Given the description of an element on the screen output the (x, y) to click on. 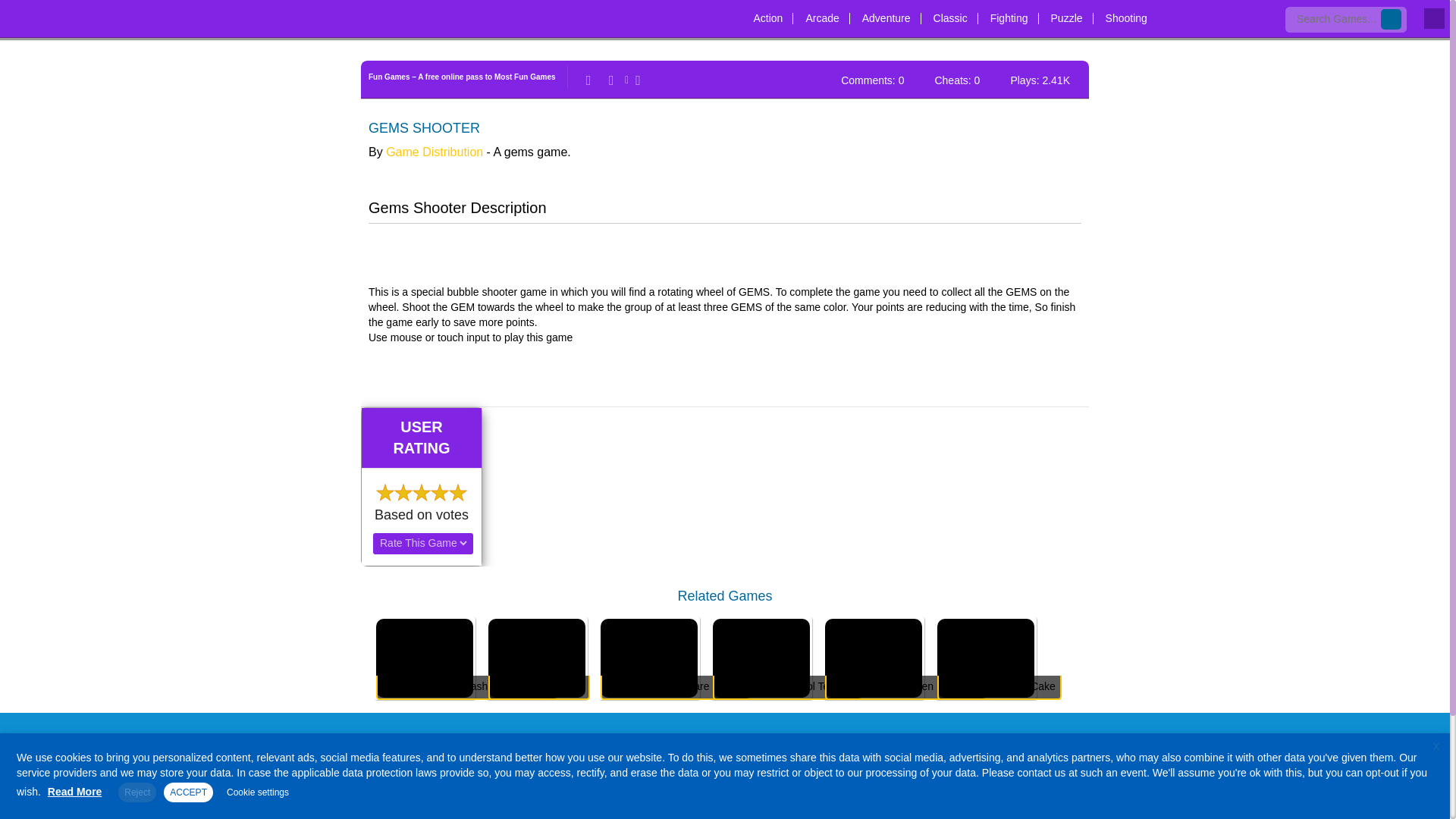
Adventure (885, 13)
Shining Princess Fashion Makeover (424, 650)
Action (767, 13)
My Baby Unicorn 2 (536, 650)
Play in fullscreen (635, 79)
Arcade (821, 13)
